Given the description of an element on the screen output the (x, y) to click on. 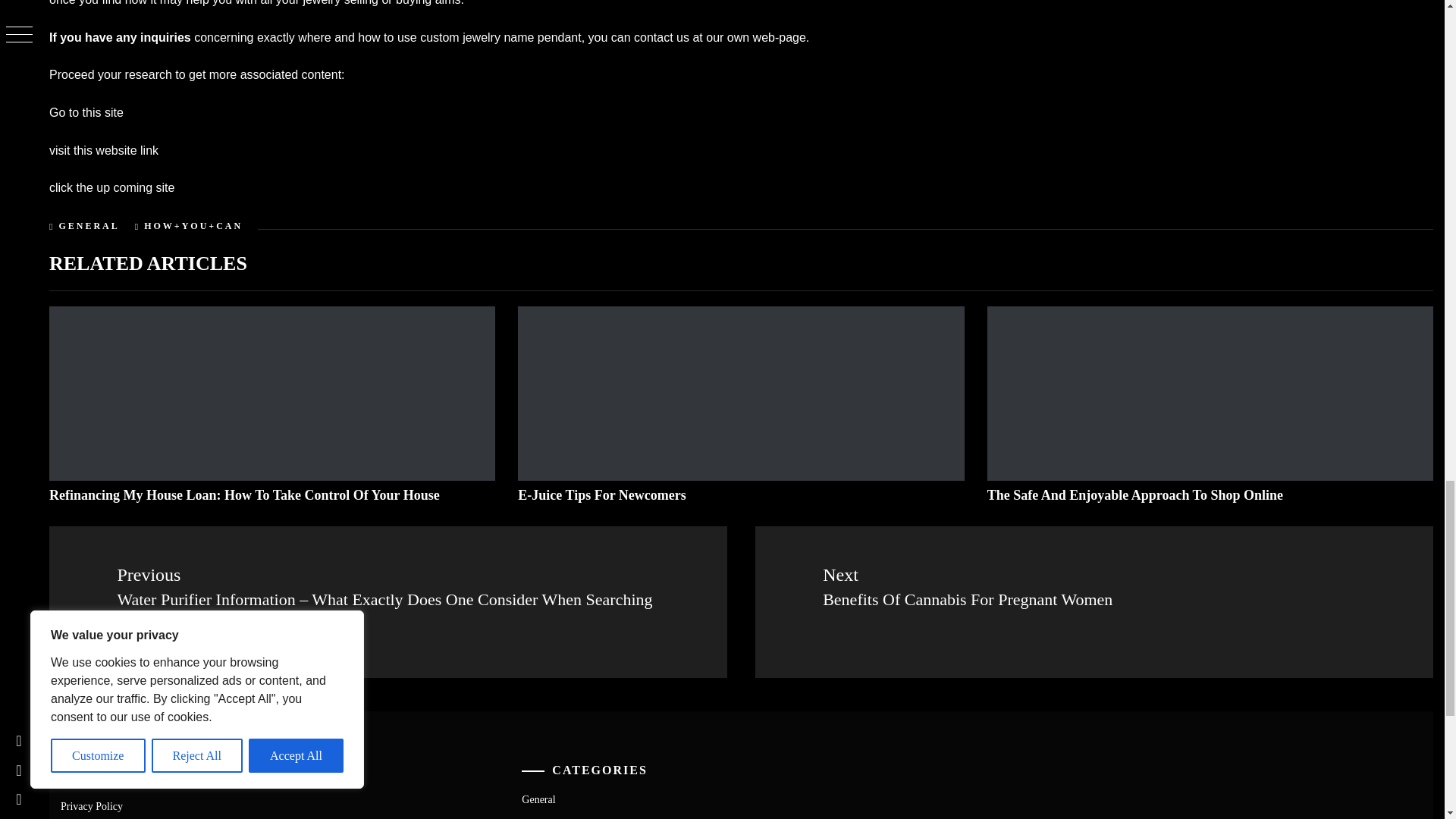
Refinancing My House Loan: How To Take Control Of Your House (244, 494)
Go to this site (86, 112)
GENERAL (88, 225)
custom jewelry name pendant (500, 37)
click the up coming site (111, 187)
visit this website link (103, 150)
